Given the description of an element on the screen output the (x, y) to click on. 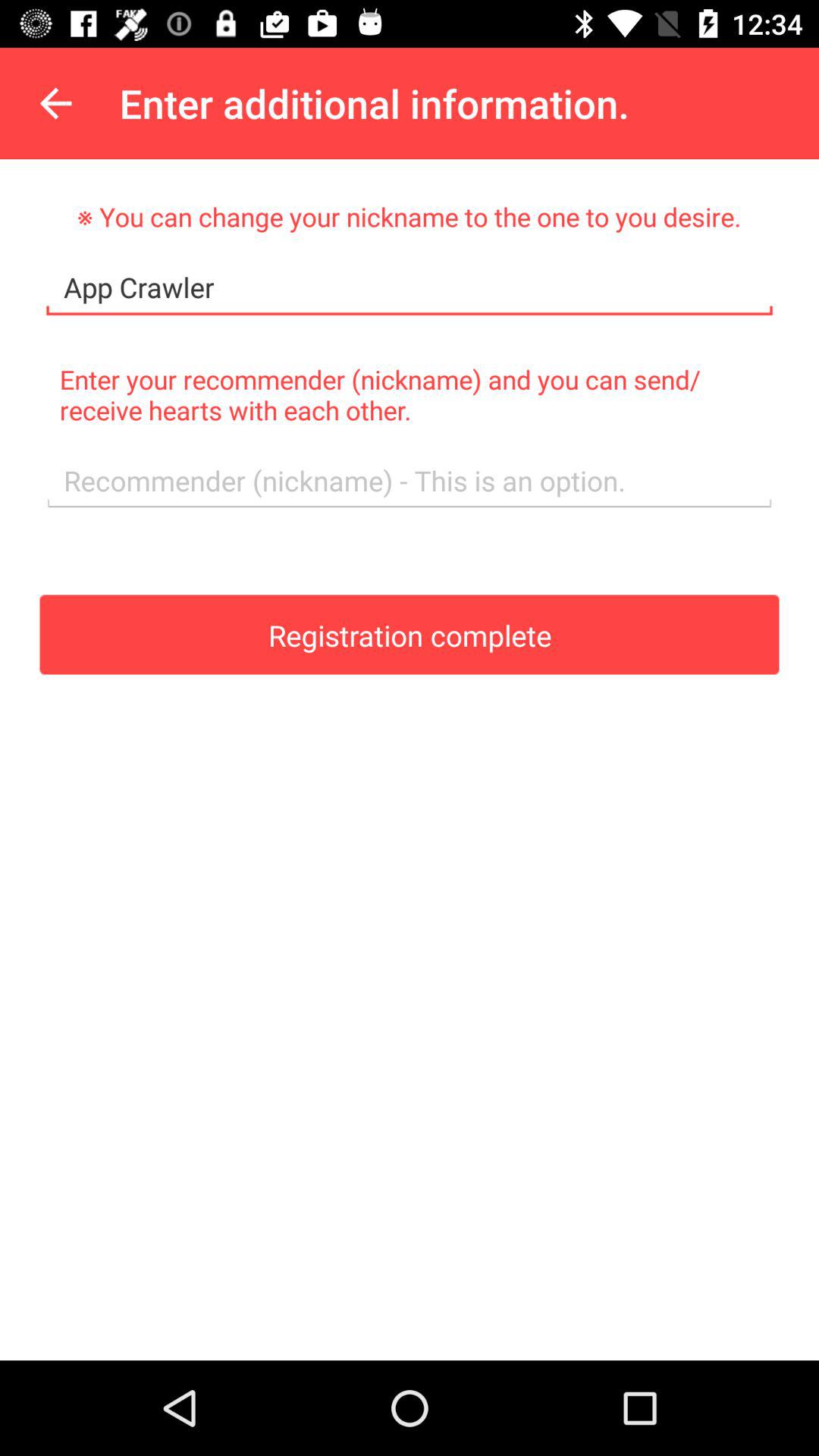
turn on icon next to the enter additional information. icon (55, 103)
